Given the description of an element on the screen output the (x, y) to click on. 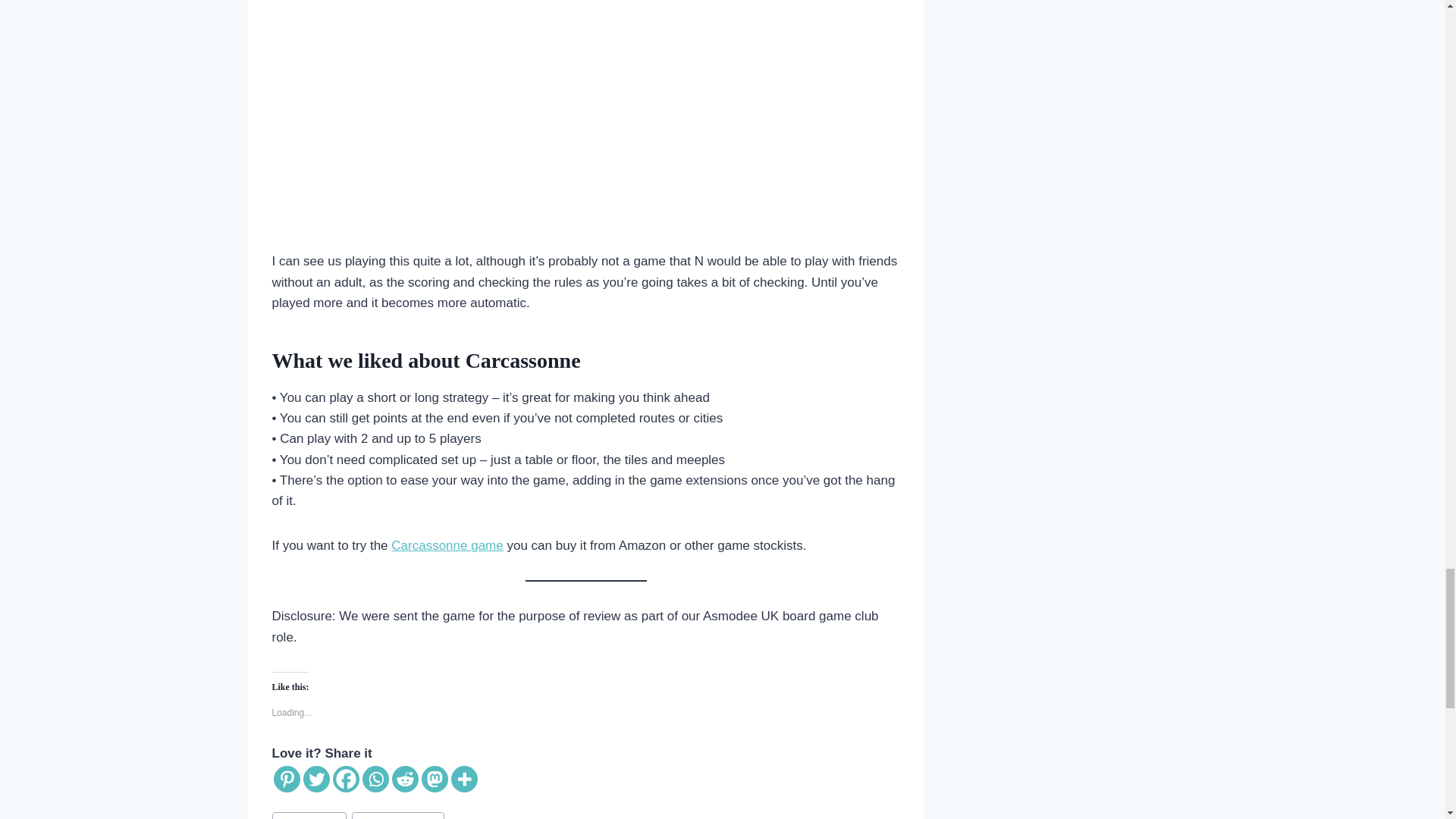
Twitter (316, 778)
Pinterest (286, 778)
toys and games (398, 815)
board game (308, 815)
Facebook (344, 778)
Whatsapp (375, 778)
Mastodon (435, 778)
More (463, 778)
Carcassonne game (446, 545)
Reddit (404, 778)
